Given the description of an element on the screen output the (x, y) to click on. 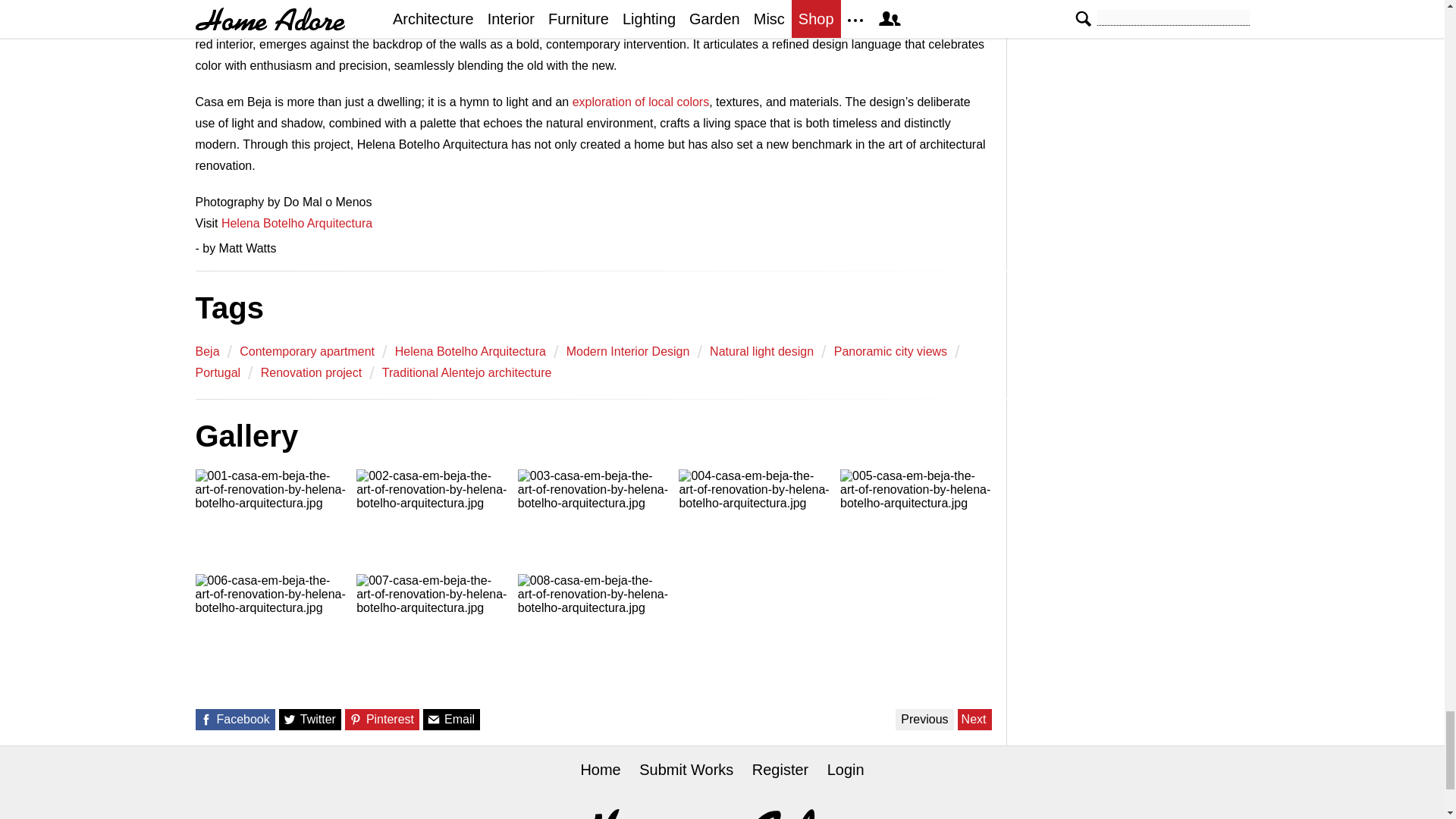
Share on Facebook (205, 719)
natural light design (761, 351)
Share with a Friend (433, 719)
Modern Interior Design (628, 351)
Helena Botelho Arquitectura (470, 351)
Beja (207, 351)
HomeAdore (722, 814)
panoramic city views (890, 351)
Share on Pinterest (355, 719)
renovation project (310, 373)
